Given the description of an element on the screen output the (x, y) to click on. 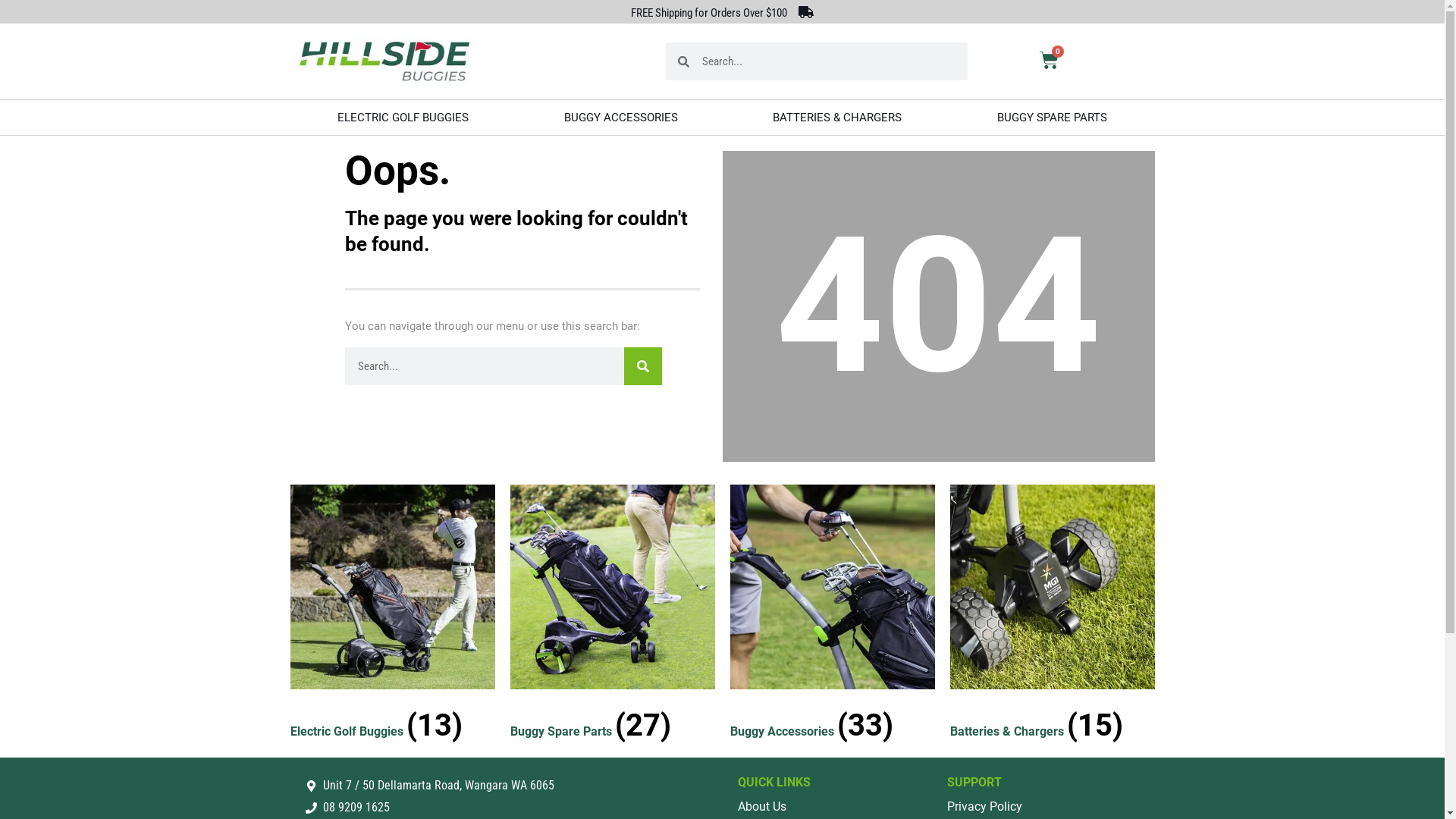
BUGGY ACCESSORIES Element type: text (620, 117)
08 9209 1625 Element type: text (512, 807)
ELECTRIC GOLF BUGGIES Element type: text (402, 117)
Buggy Spare Parts (27) Element type: text (611, 616)
Privacy Policy Element type: text (1047, 806)
BUGGY SPARE PARTS Element type: text (1051, 117)
Batteries & Chargers (15) Element type: text (1051, 616)
About Us Element type: text (834, 806)
Electric Golf Buggies (13) Element type: text (391, 616)
FREE Shipping for Orders Over $100 Element type: text (708, 12)
Unit 7 / 50 Dellamarta Road, Wangara WA 6065 Element type: text (512, 785)
0 Element type: text (1048, 61)
Buggy Accessories (33) Element type: text (831, 616)
BATTERIES & CHARGERS Element type: text (836, 117)
